Given the description of an element on the screen output the (x, y) to click on. 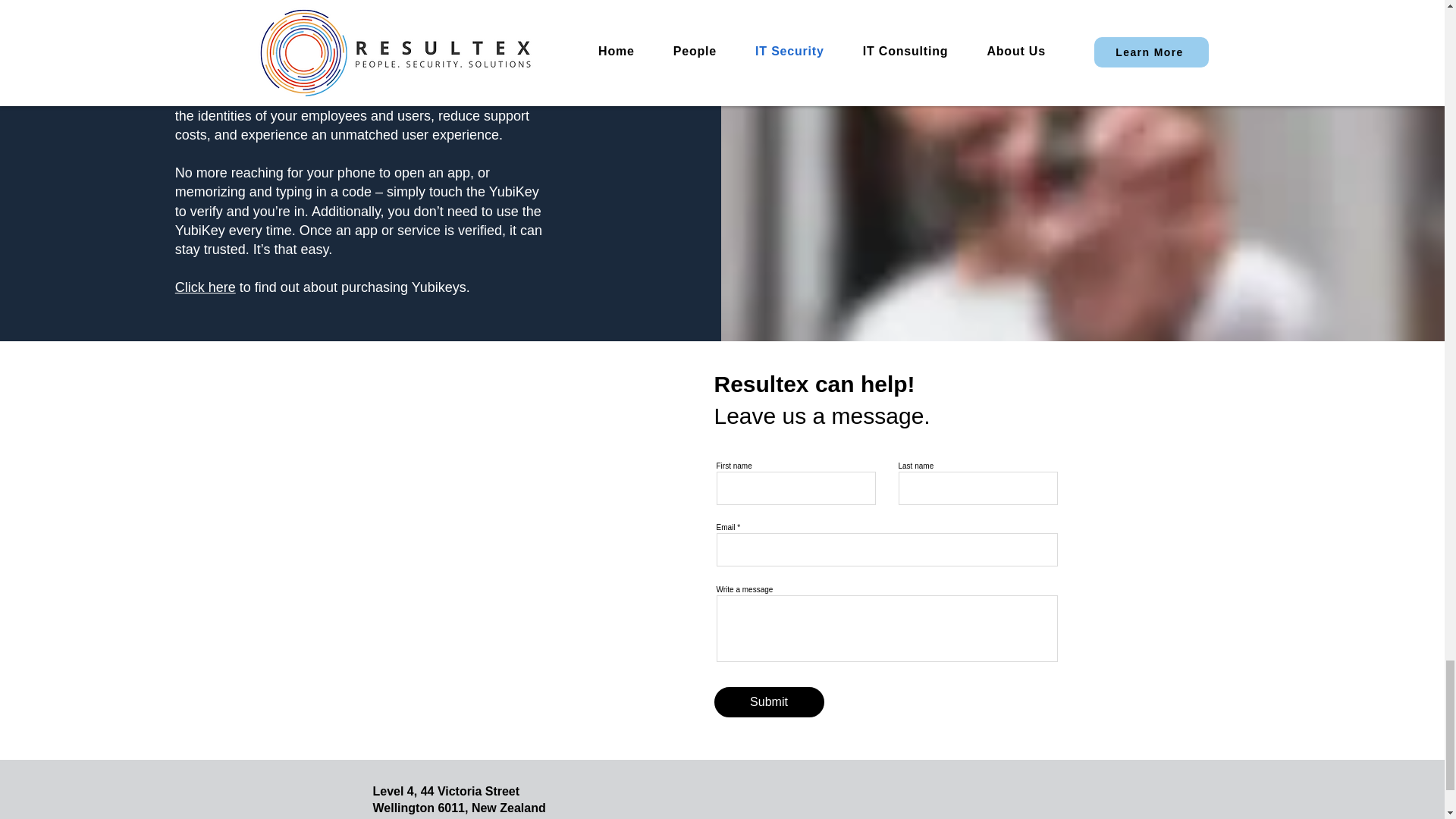
Individuals (343, 58)
SMBs (284, 58)
Click here (204, 287)
Submit (769, 702)
YubiKey (226, 96)
Enterprises (224, 58)
Developers (444, 58)
